Given the description of an element on the screen output the (x, y) to click on. 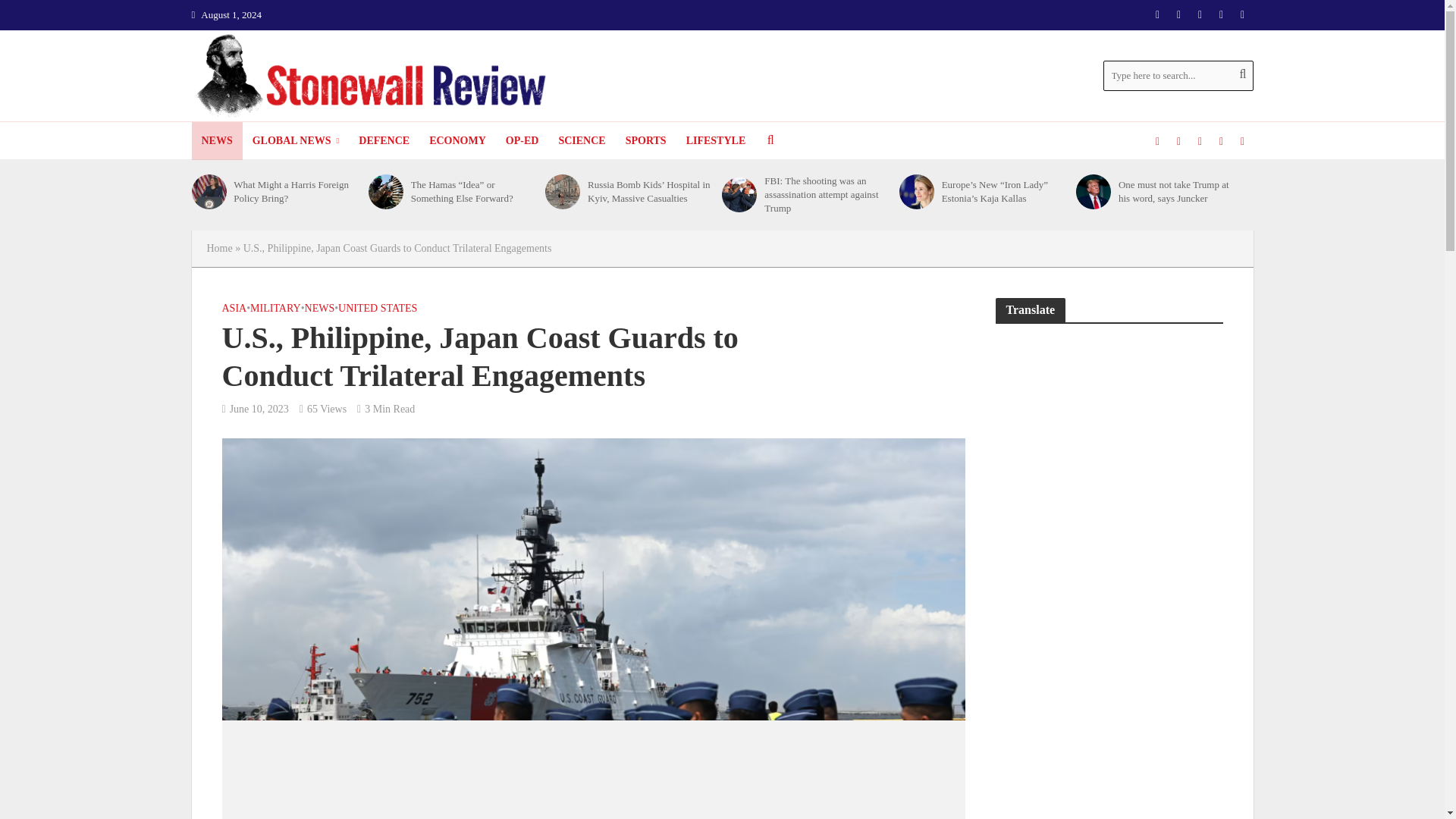
What Might a Harris Foreign Policy Bring? (207, 191)
FBI: The shooting was an assassination attempt against Trump (739, 194)
GLOBAL NEWS (296, 140)
One must not take Trump at his word, says Juncker (1092, 191)
NEWS (215, 140)
